Given the description of an element on the screen output the (x, y) to click on. 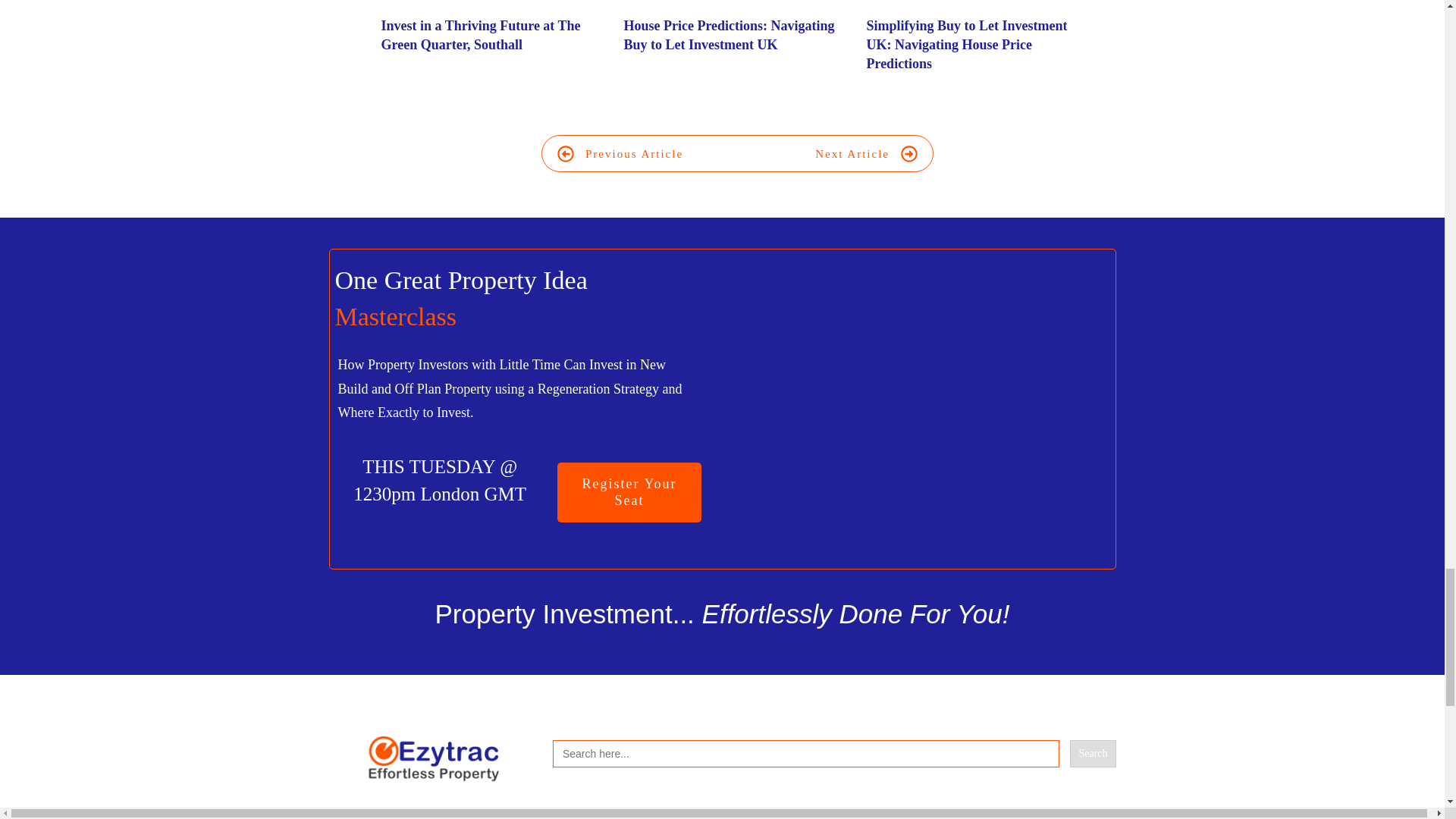
House Price Predictions: Navigating Buy to Let Investment UK (728, 35)
Next Article (866, 153)
House Price Predictions: Navigating Buy to Let Investment UK (736, 44)
Invest in a Thriving Future at The Green Quarter, Southall (494, 44)
Invest in a Thriving Future at The Green Quarter, Southall (479, 35)
Previous Article (619, 153)
Register Your Seat (629, 492)
Search (1092, 753)
Search (1092, 753)
